Given the description of an element on the screen output the (x, y) to click on. 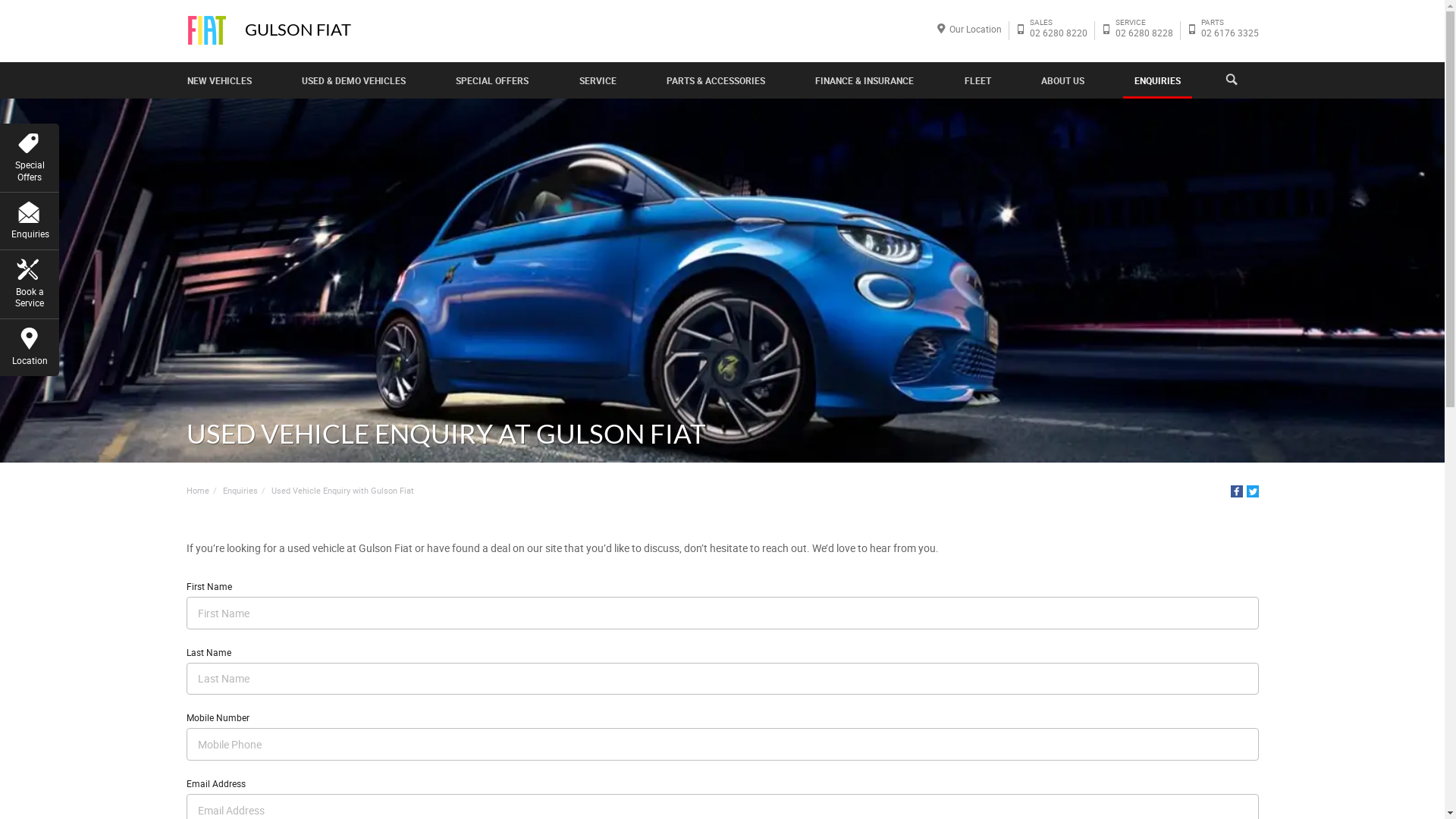
FINANCE & INSURANCE Element type: text (864, 80)
ENQUIRIES Element type: text (1157, 80)
SALES
02 6280 8220 Element type: text (1057, 30)
SERVICE Element type: text (597, 80)
Enquiries Element type: text (29, 218)
USED & DEMO VEHICLES Element type: text (353, 80)
Facebook Element type: hover (1236, 491)
Enquiries Element type: text (239, 490)
Book a Service Element type: text (29, 281)
Used Vehicle Enquiry with Gulson Fiat Element type: text (342, 490)
GULSON FIAT Element type: text (297, 29)
Home Element type: text (197, 490)
NEW VEHICLES Element type: text (219, 80)
PARTS & ACCESSORIES Element type: text (715, 80)
SPECIAL OFFERS Element type: text (491, 80)
FLEET Element type: text (977, 80)
Twitter Element type: hover (1252, 491)
Special Offers Element type: text (29, 154)
SEARCH Element type: text (1239, 80)
Gulson Fiat Element type: hover (206, 30)
SERVICE
02 6280 8228 Element type: text (1143, 30)
Our Location Element type: text (974, 28)
PARTS
02 6176 3325 Element type: text (1228, 30)
ABOUT US Element type: text (1062, 80)
Location Element type: text (29, 345)
